Given the description of an element on the screen output the (x, y) to click on. 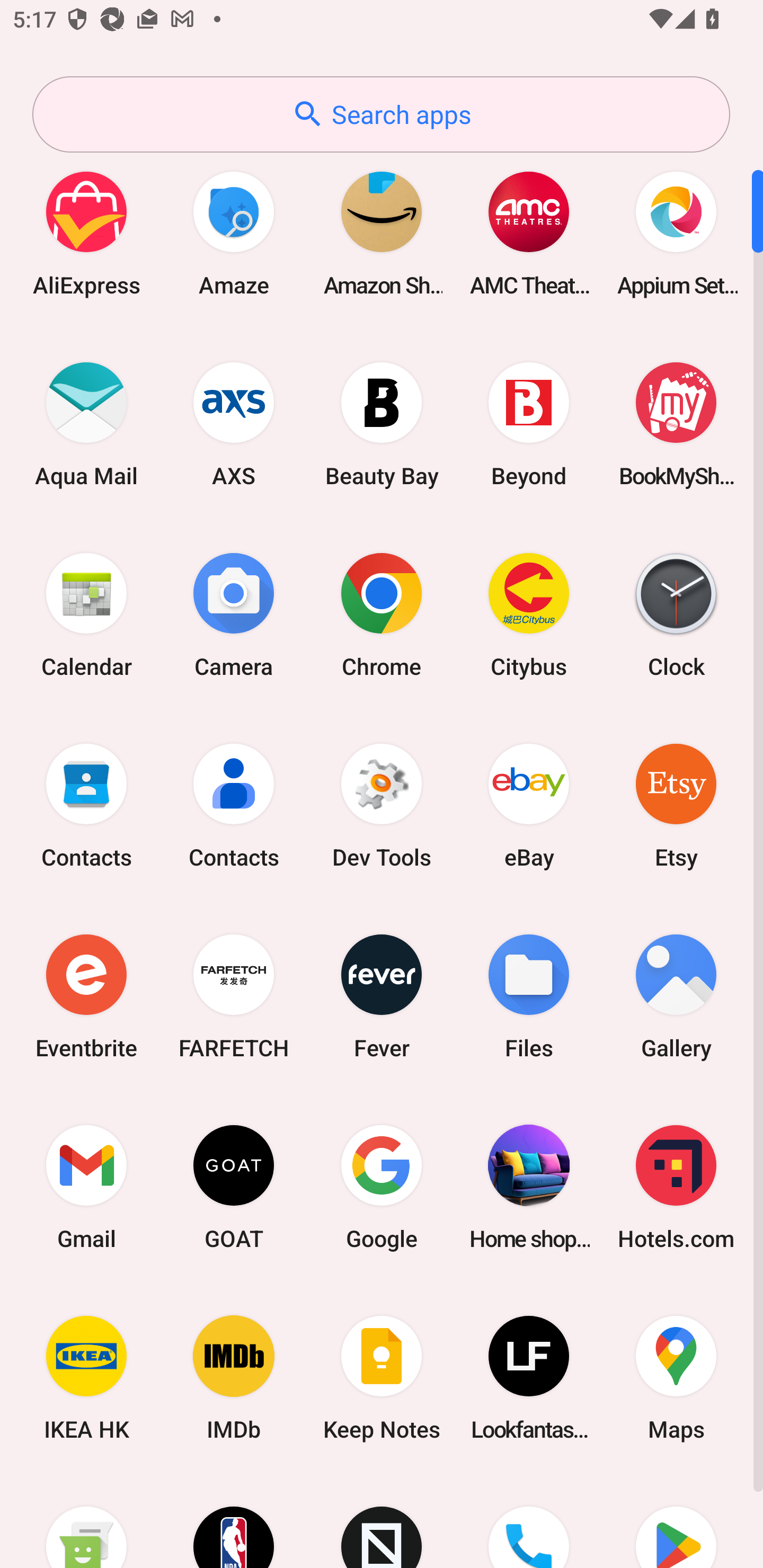
  Search apps (381, 114)
AliExpress (86, 233)
Amaze (233, 233)
Amazon Shopping (381, 233)
AMC Theatres (528, 233)
Appium Settings (676, 233)
Aqua Mail (86, 424)
AXS (233, 424)
Beauty Bay (381, 424)
Beyond (528, 424)
BookMyShow (676, 424)
Calendar (86, 614)
Camera (233, 614)
Chrome (381, 614)
Citybus (528, 614)
Clock (676, 614)
Contacts (86, 805)
Contacts (233, 805)
Dev Tools (381, 805)
eBay (528, 805)
Etsy (676, 805)
Eventbrite (86, 996)
FARFETCH (233, 996)
Fever (381, 996)
Files (528, 996)
Gallery (676, 996)
Gmail (86, 1186)
GOAT (233, 1186)
Google (381, 1186)
Home shopping (528, 1186)
Hotels.com (676, 1186)
IKEA HK (86, 1377)
IMDb (233, 1377)
Keep Notes (381, 1377)
Lookfantastic (528, 1377)
Maps (676, 1377)
Messaging (86, 1520)
NBA (233, 1520)
Novelship (381, 1520)
Phone (528, 1520)
Play Store (676, 1520)
